Given the description of an element on the screen output the (x, y) to click on. 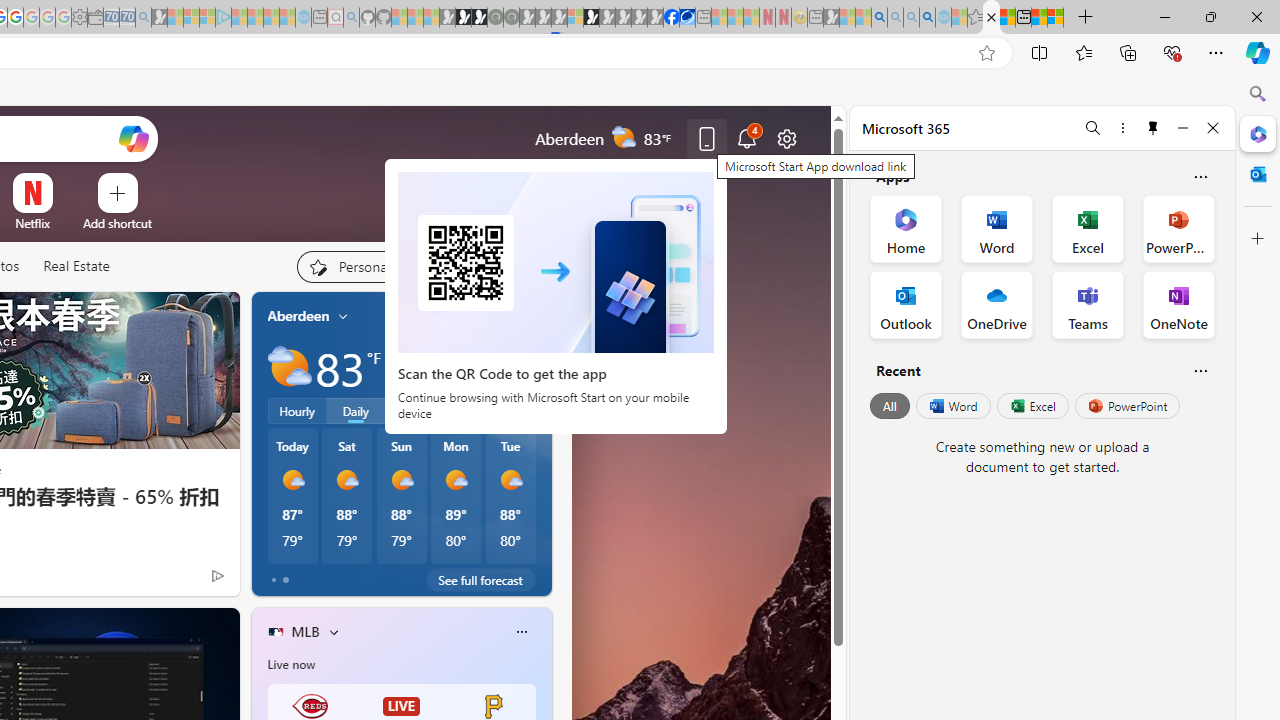
Sign in to your account - Sleeping (575, 17)
My location (343, 315)
